Given the description of an element on the screen output the (x, y) to click on. 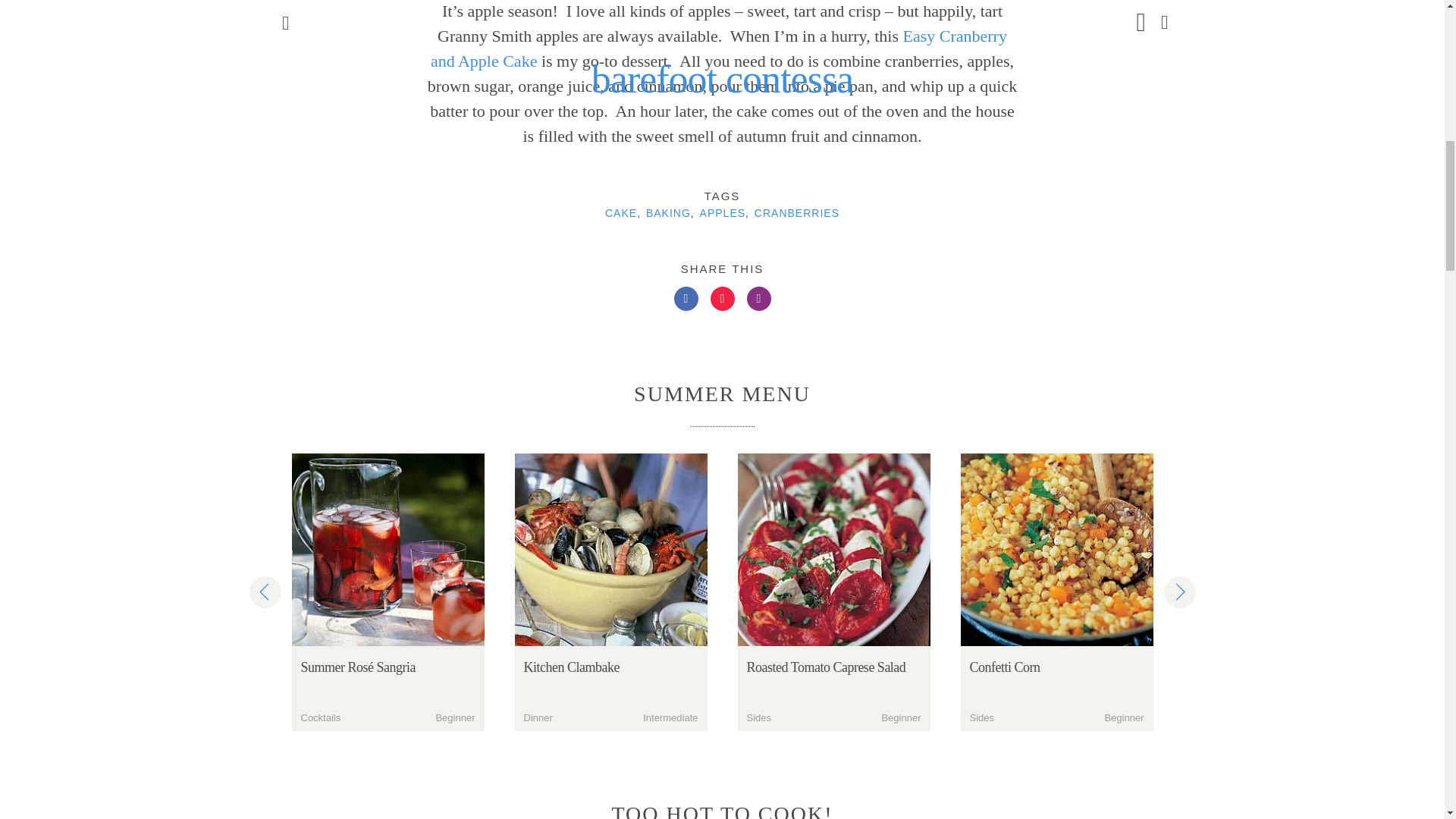
APPLES (722, 212)
CAKE (621, 212)
CRANBERRIES (797, 212)
Easy Cranberry and Apple Cake (718, 48)
BAKING (668, 212)
